Given the description of an element on the screen output the (x, y) to click on. 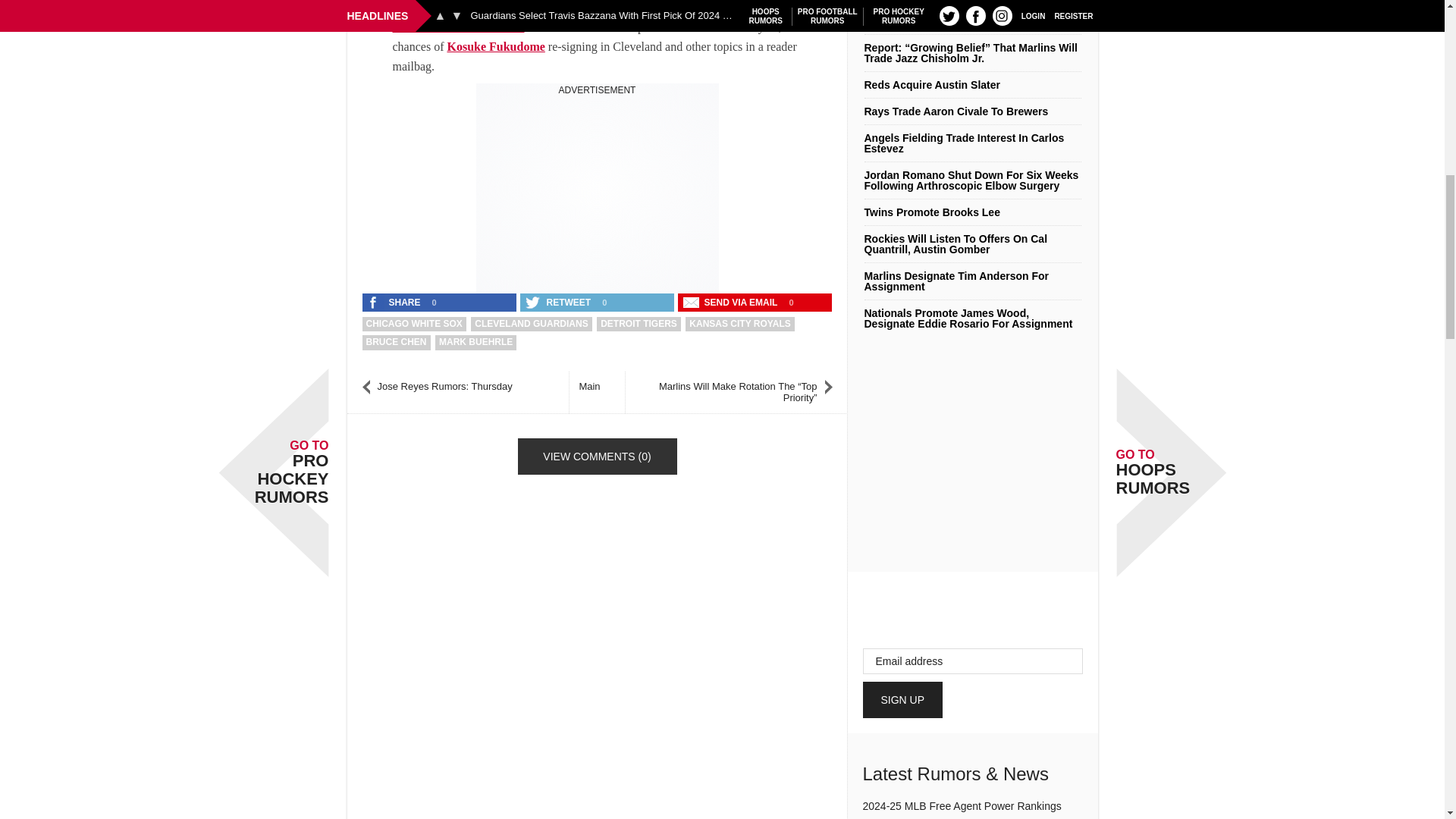
3rd party ad content (597, 190)
Sign Up (903, 699)
